Given the description of an element on the screen output the (x, y) to click on. 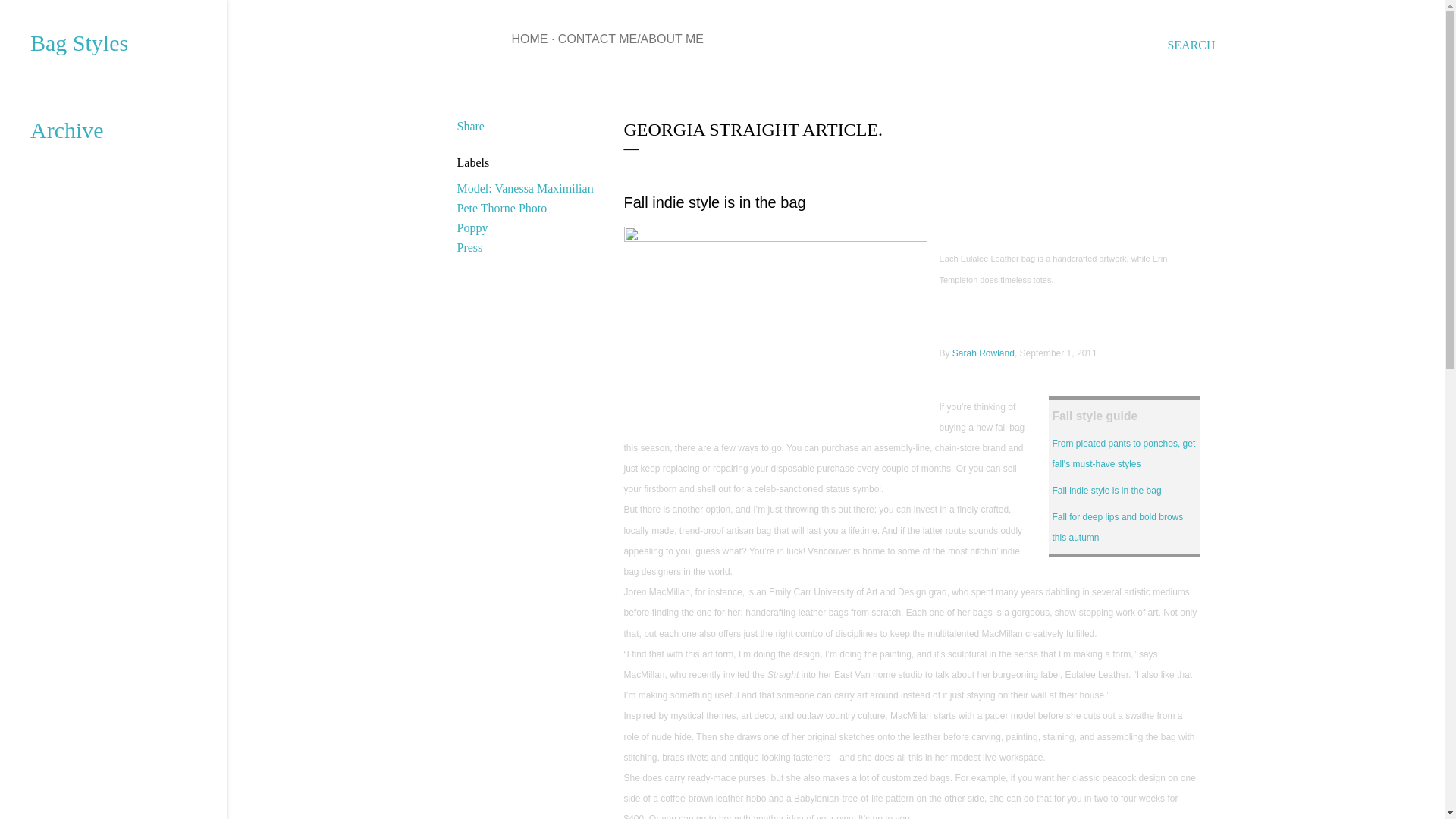
SEARCH (1190, 45)
Model: Vanessa Maximilian (524, 187)
Sarah Rowland (983, 353)
Share (470, 126)
Press (469, 246)
Pete Thorne Photo (502, 207)
From pleated pants to ponchos, get fall's must-have styles (1123, 453)
Fall indie style is in the bag (1106, 490)
Fall for deep lips and bold brows this autumn (1117, 526)
HOME (529, 38)
Poppy (472, 227)
